Given the description of an element on the screen output the (x, y) to click on. 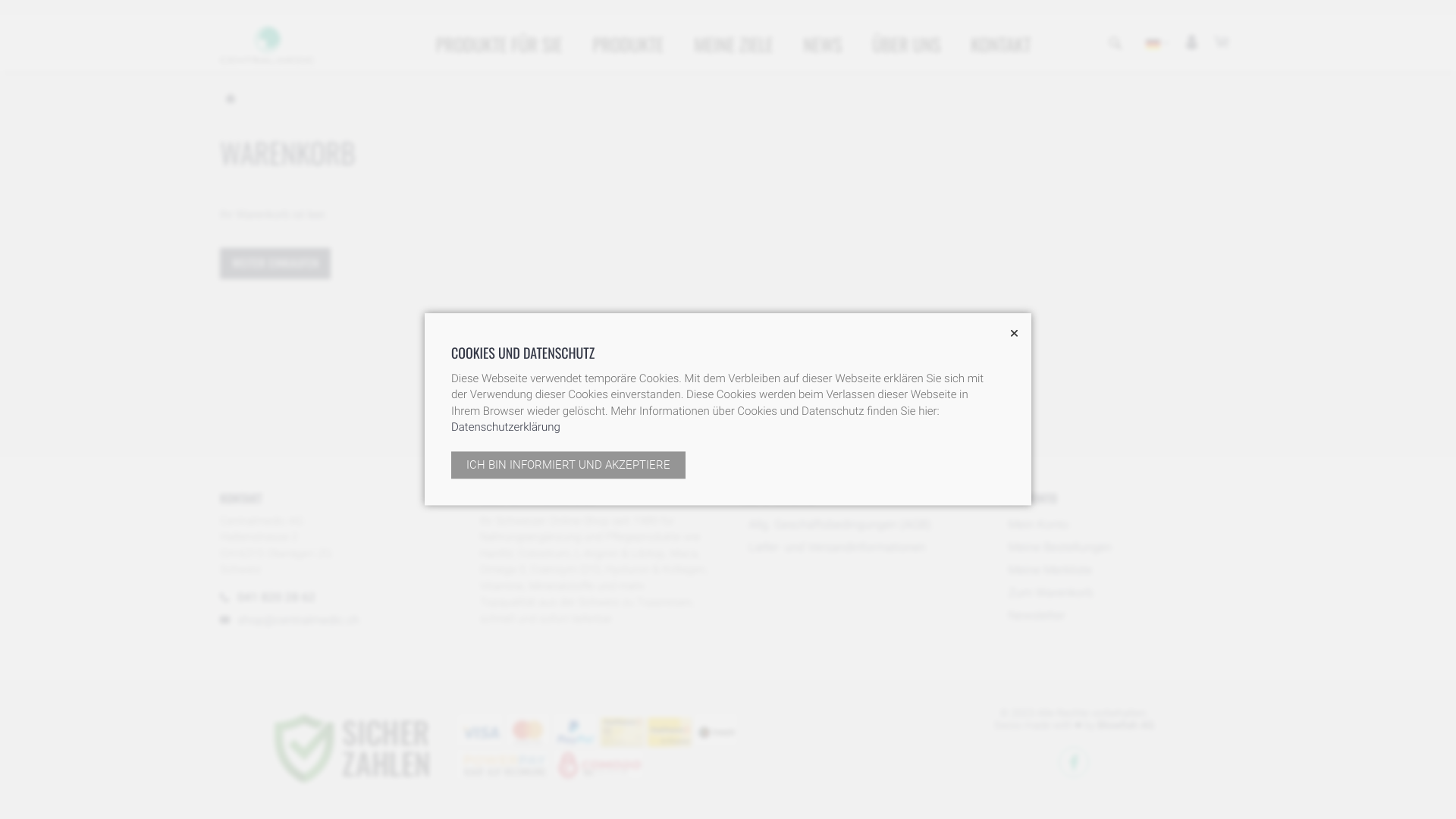
KONTAKT Element type: text (1000, 43)
Logo Element type: hover (266, 43)
ICH BIN INFORMIERT UND AKZEPTIERE Element type: text (568, 465)
shop@centralmedic.ch Element type: text (298, 619)
Mein Konto Element type: text (1034, 524)
NEWS Element type: text (821, 43)
Newsletter Element type: text (1032, 615)
Blowfish AG Element type: text (1125, 725)
Meine Bestellungen Element type: text (1055, 547)
MEINE ZIELE Element type: text (733, 43)
PRODUKTE Element type: text (627, 43)
WEITER EINKAUFEN Element type: text (274, 263)
Meine Merkliste Element type: text (1045, 569)
Zum Warenkorb Element type: text (1046, 592)
